Given the description of an element on the screen output the (x, y) to click on. 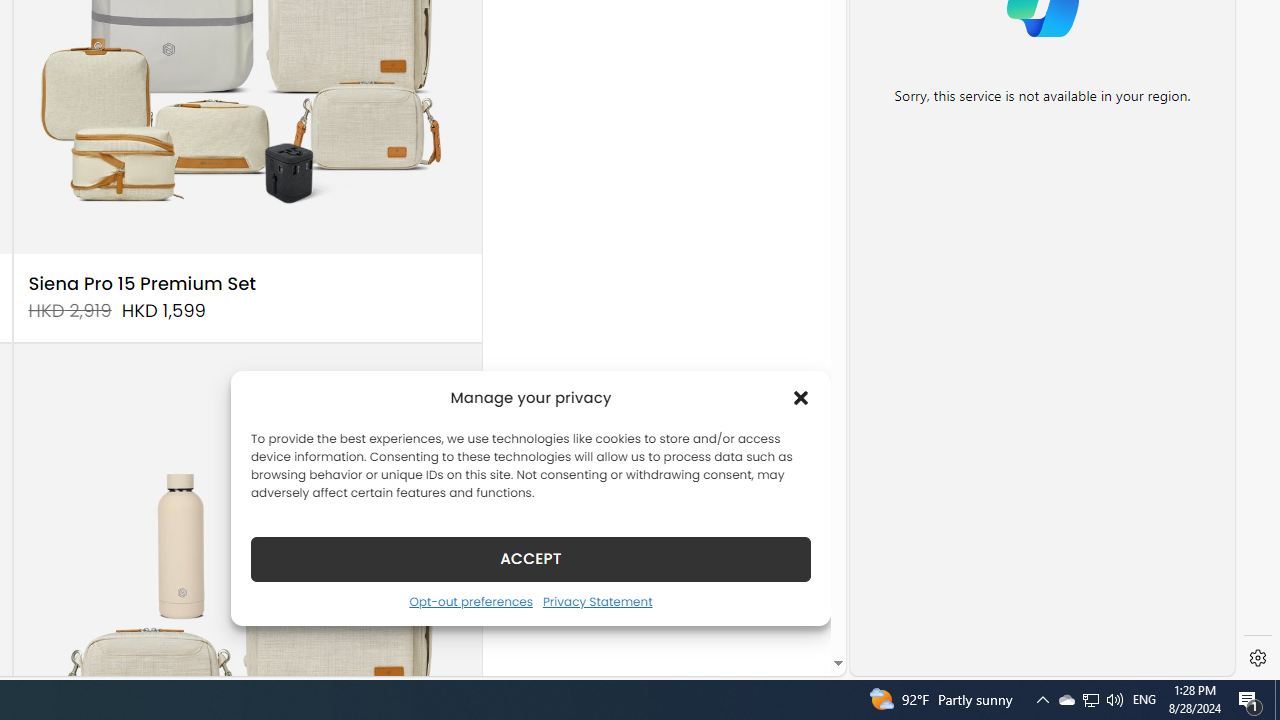
ACCEPT (530, 558)
Privacy Statement (596, 601)
Opt-out preferences (470, 601)
Siena Pro 15 Premium Set (142, 283)
Class: cmplz-close (801, 397)
